Given the description of an element on the screen output the (x, y) to click on. 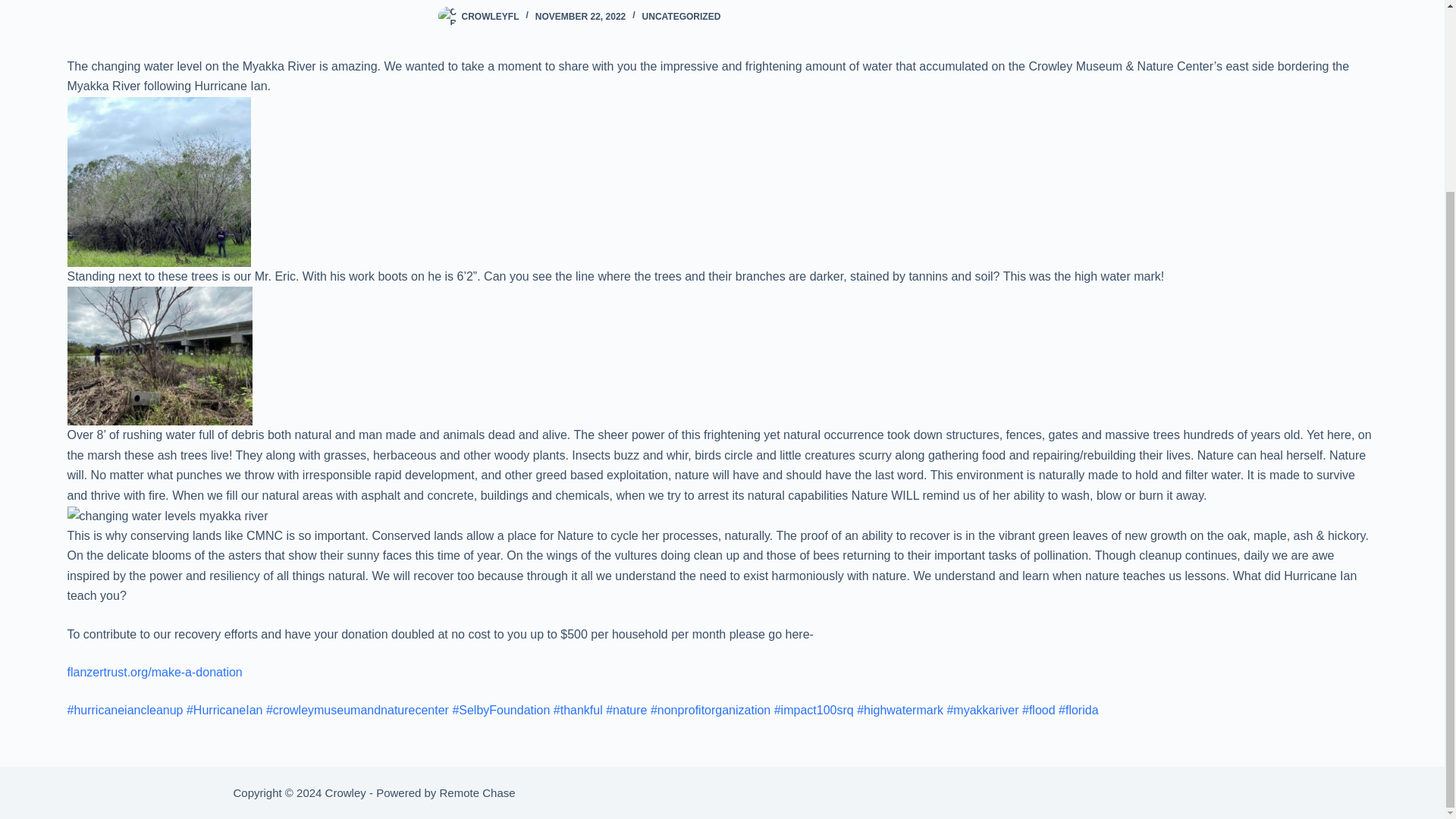
Posts by crowleyfl (489, 16)
